Given the description of an element on the screen output the (x, y) to click on. 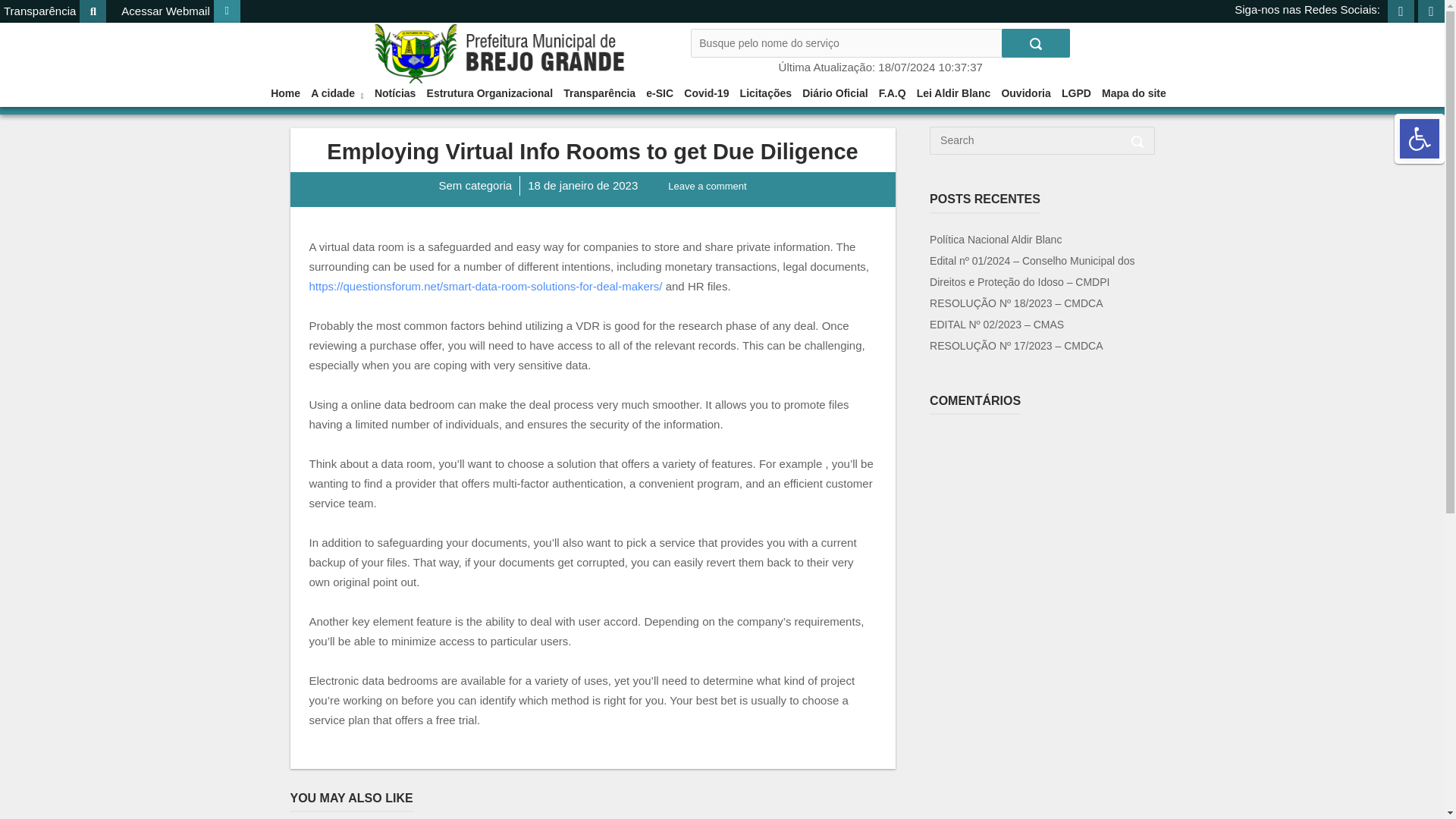
Estrutura Organizacional (489, 92)
Leave a comment (706, 185)
Ferramentas de Acessibilidade (1419, 138)
A cidade (337, 92)
Home (532, 52)
Ferramentas de Acessibilidade (1419, 138)
Covid-19 (706, 92)
SEARCH (1419, 138)
e-SIC (1035, 42)
F.A.Q (659, 92)
Acessar Webmail (892, 92)
Lei Aldir Blanc (178, 11)
Ouvidoria (954, 92)
Mapa do site (1025, 92)
